Given the description of an element on the screen output the (x, y) to click on. 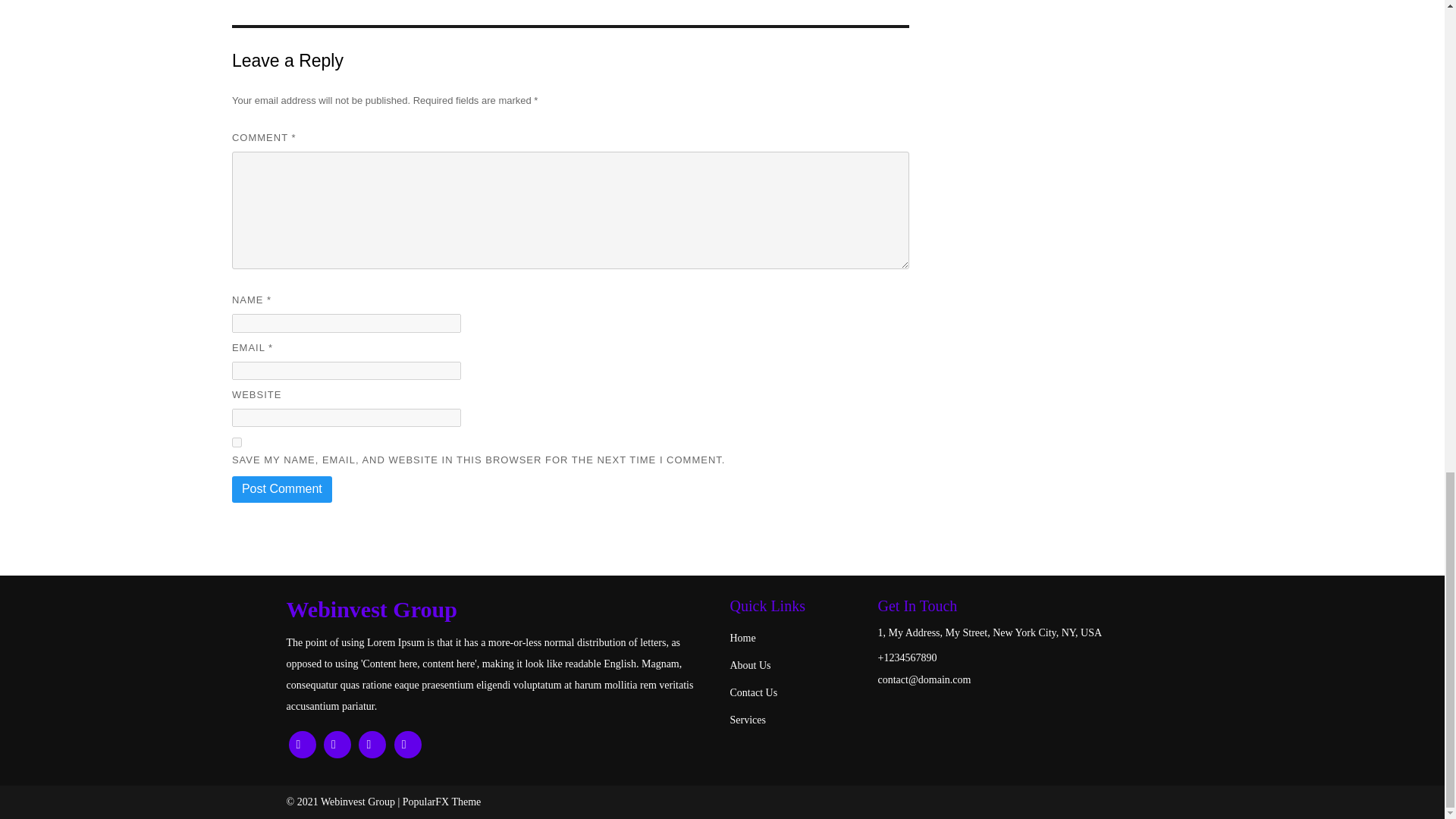
Post Comment (281, 488)
yes (236, 442)
Webinvest Group (500, 609)
Post Comment (281, 488)
PopularFX Theme (442, 801)
